Given the description of an element on the screen output the (x, y) to click on. 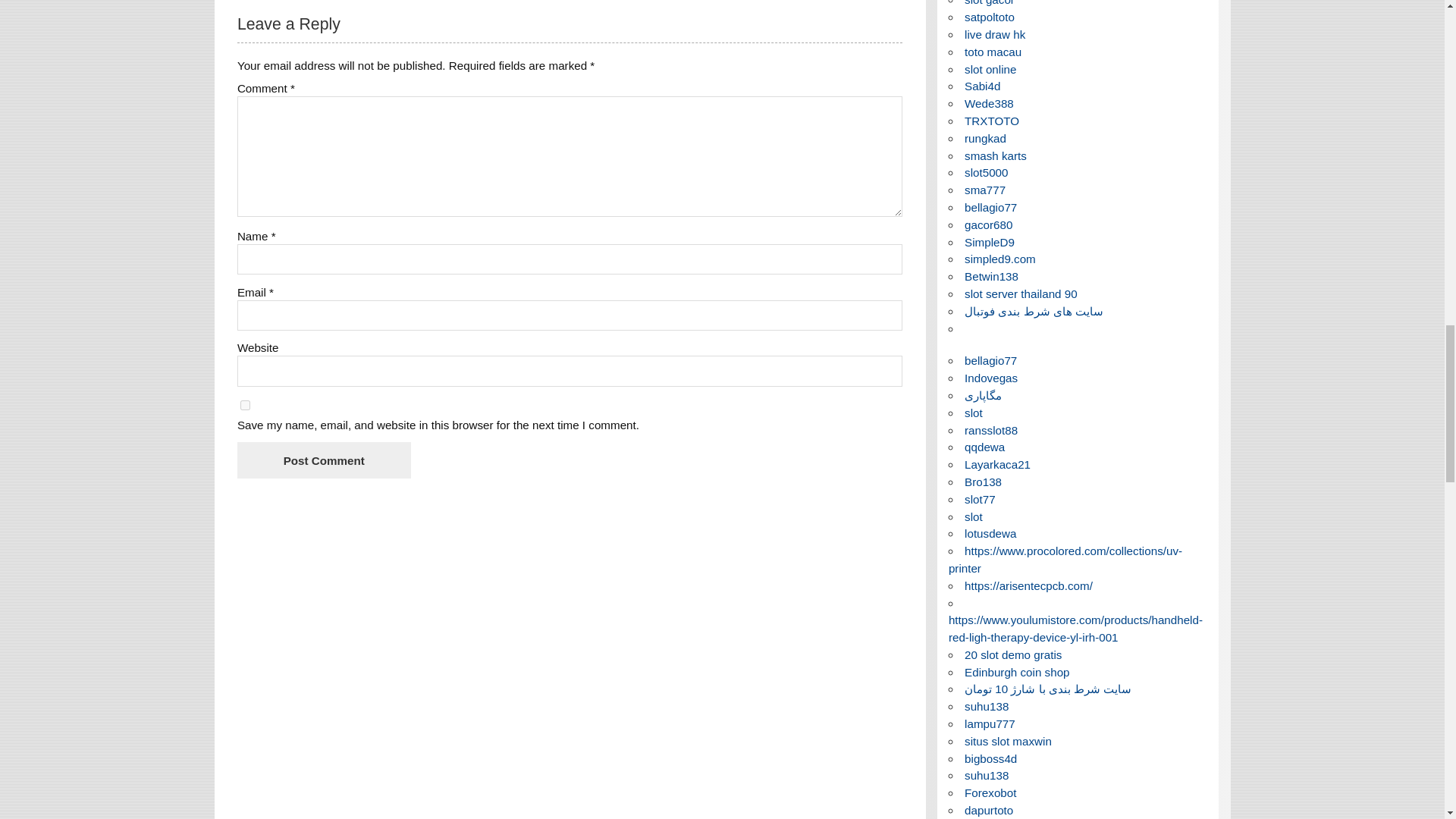
Post Comment (323, 459)
yes (245, 405)
Post Comment (323, 459)
